Given the description of an element on the screen output the (x, y) to click on. 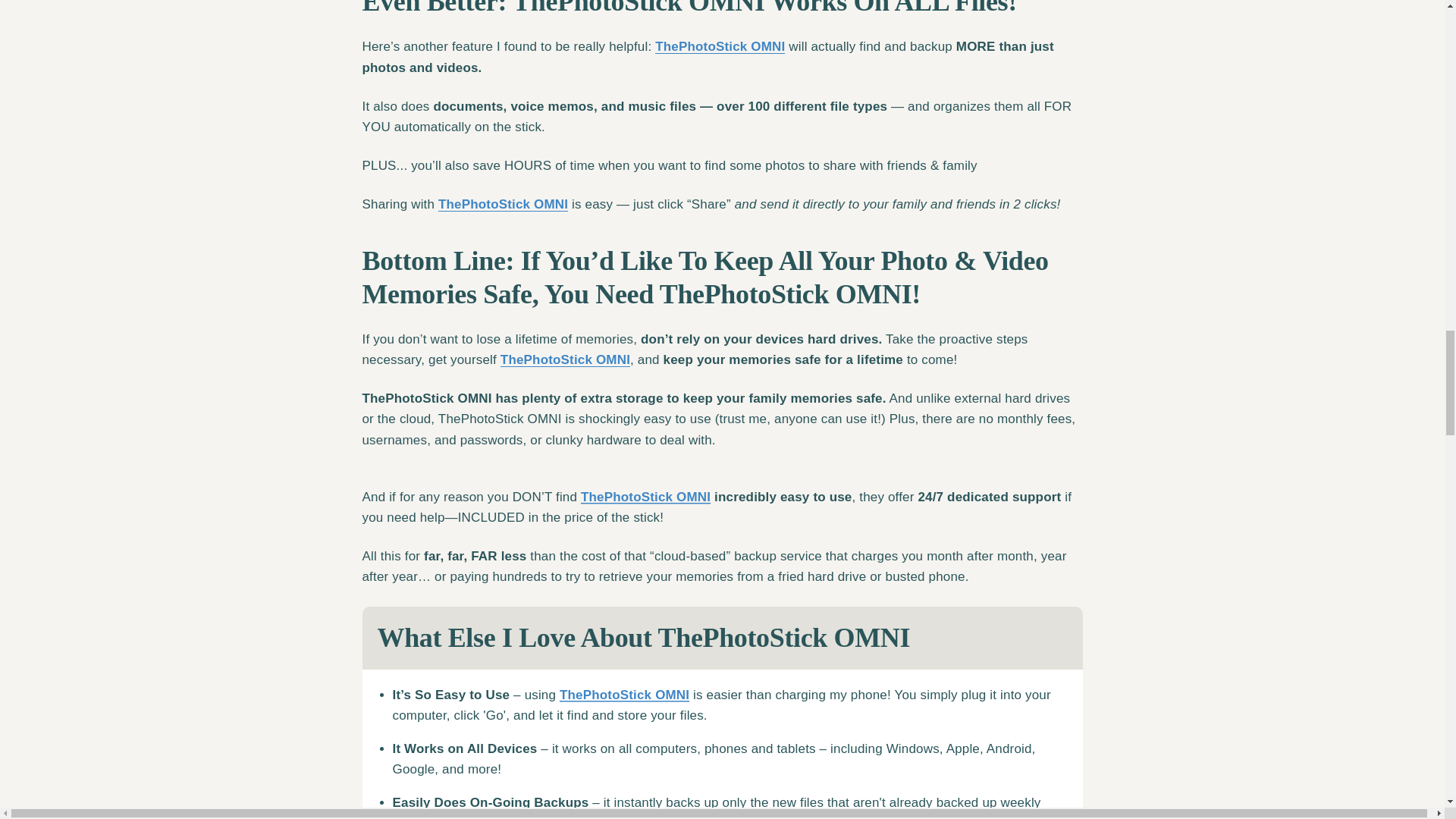
ThePhotoStick OMNI (565, 359)
ThePhotoStick OMNI (645, 496)
ThePhotoStick OMNI (719, 46)
ThePhotoStick OMNI (623, 694)
ThePhotoStick OMNI (502, 204)
